Given the description of an element on the screen output the (x, y) to click on. 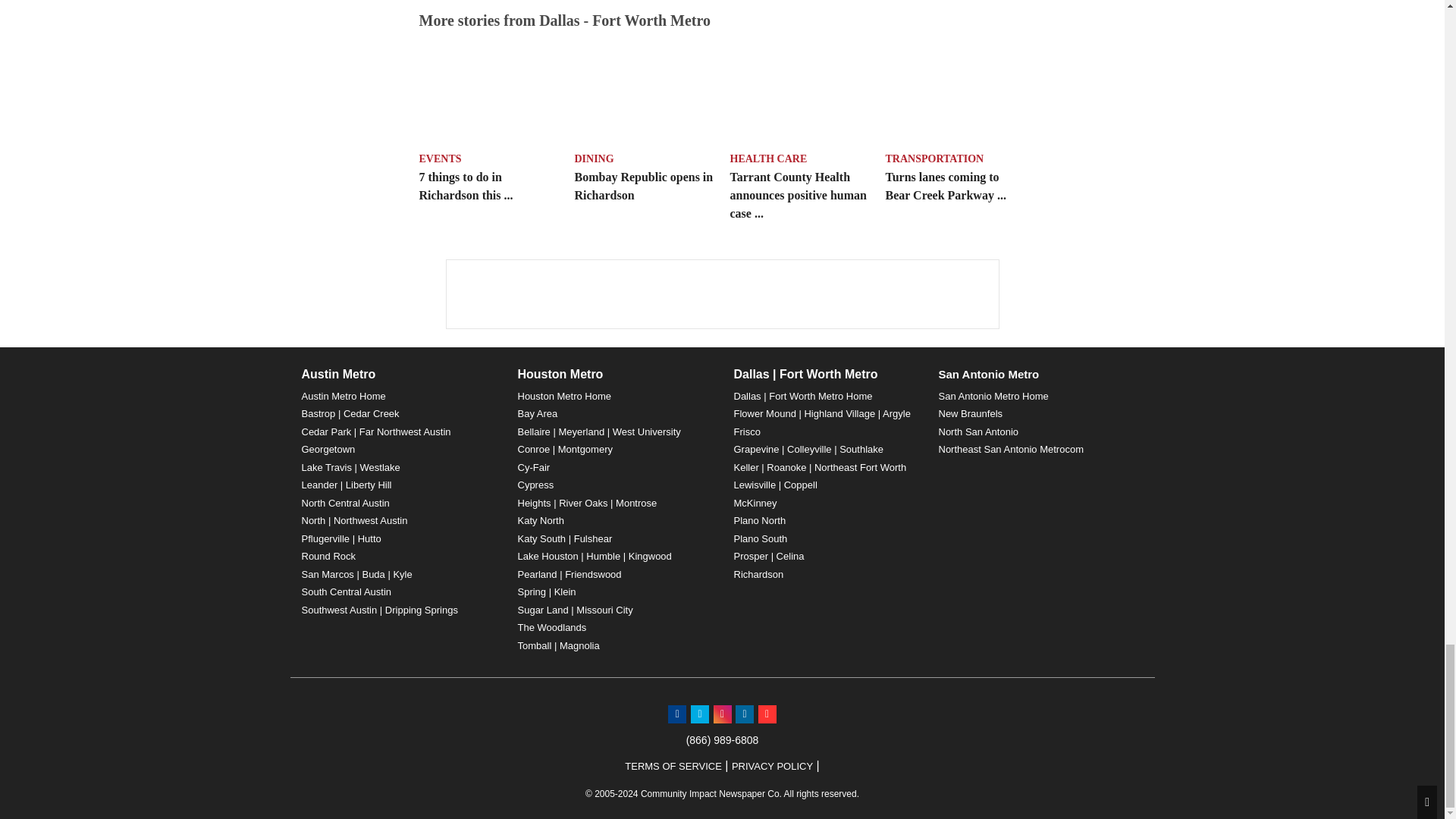
3rd party ad content (721, 294)
